Given the description of an element on the screen output the (x, y) to click on. 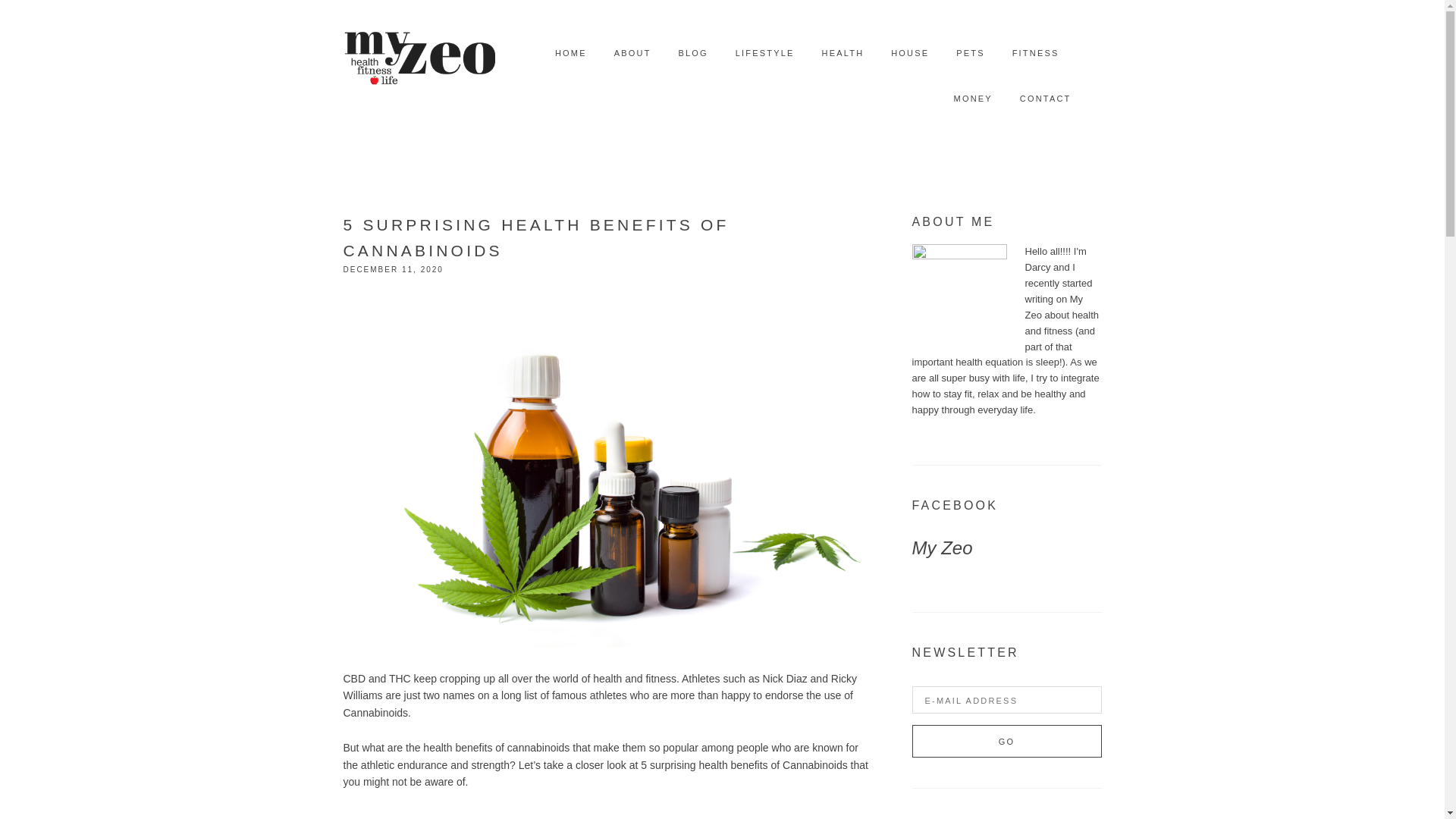
LIFESTYLE (764, 53)
Go (1005, 740)
HEALTH (843, 53)
CONTACT (1045, 98)
MY ZEO (418, 53)
Nick Diaz and Ricky Williams (599, 686)
FITNESS (1035, 53)
Go (1005, 740)
My Zeo (941, 547)
